Given the description of an element on the screen output the (x, y) to click on. 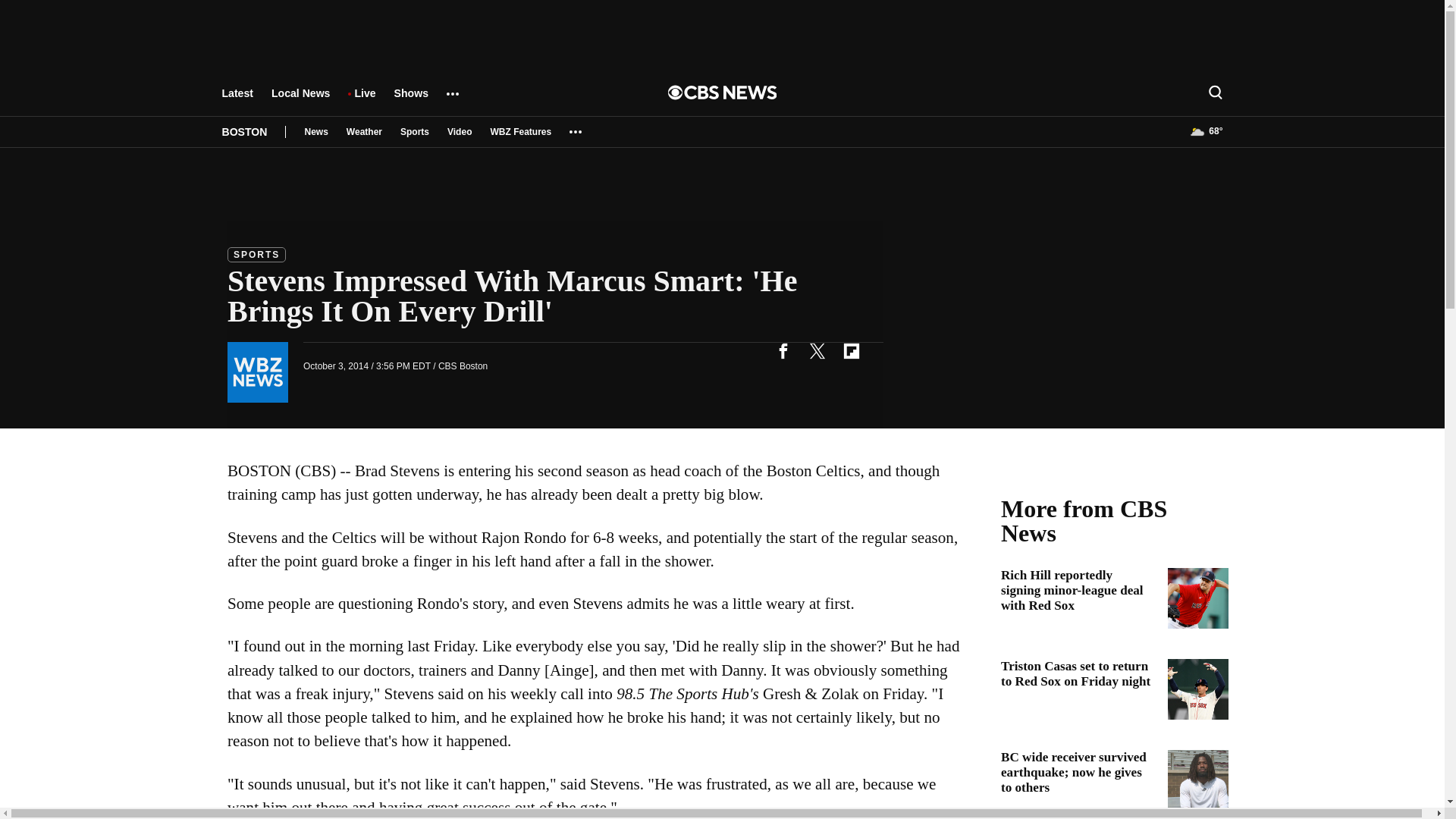
facebook (782, 350)
flipboard (850, 350)
Latest (236, 100)
Local News (300, 100)
twitter (816, 350)
